Given the description of an element on the screen output the (x, y) to click on. 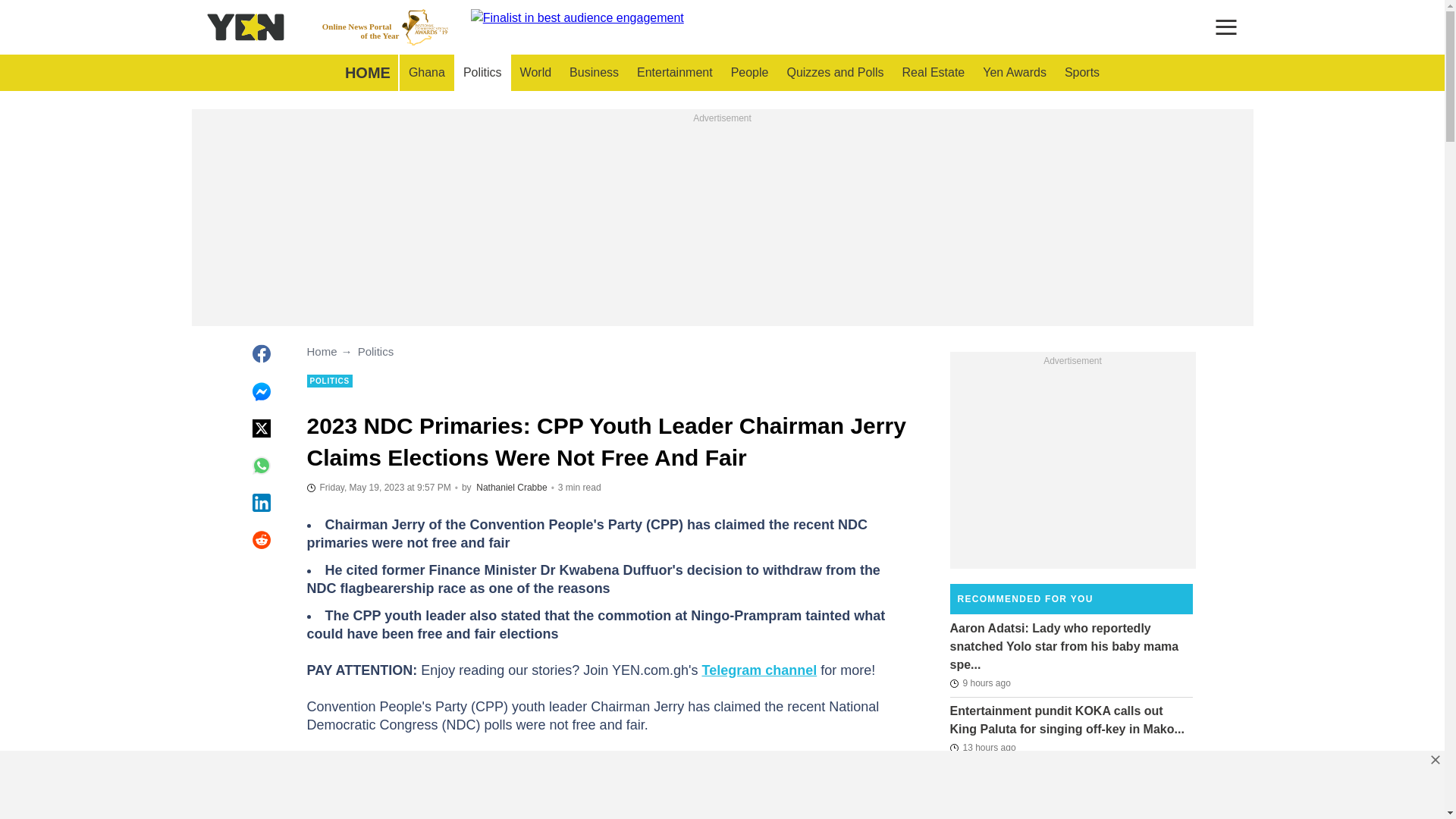
Politics (482, 72)
3rd party ad content (721, 221)
People (749, 72)
Quizzes and Polls (834, 72)
Sports (384, 27)
Ghana (1081, 72)
Author page (426, 72)
2023-05-19T21:57:45Z (511, 487)
Business (377, 487)
HOME (593, 72)
Yen Awards (367, 72)
Entertainment (1014, 72)
World (674, 72)
